Given the description of an element on the screen output the (x, y) to click on. 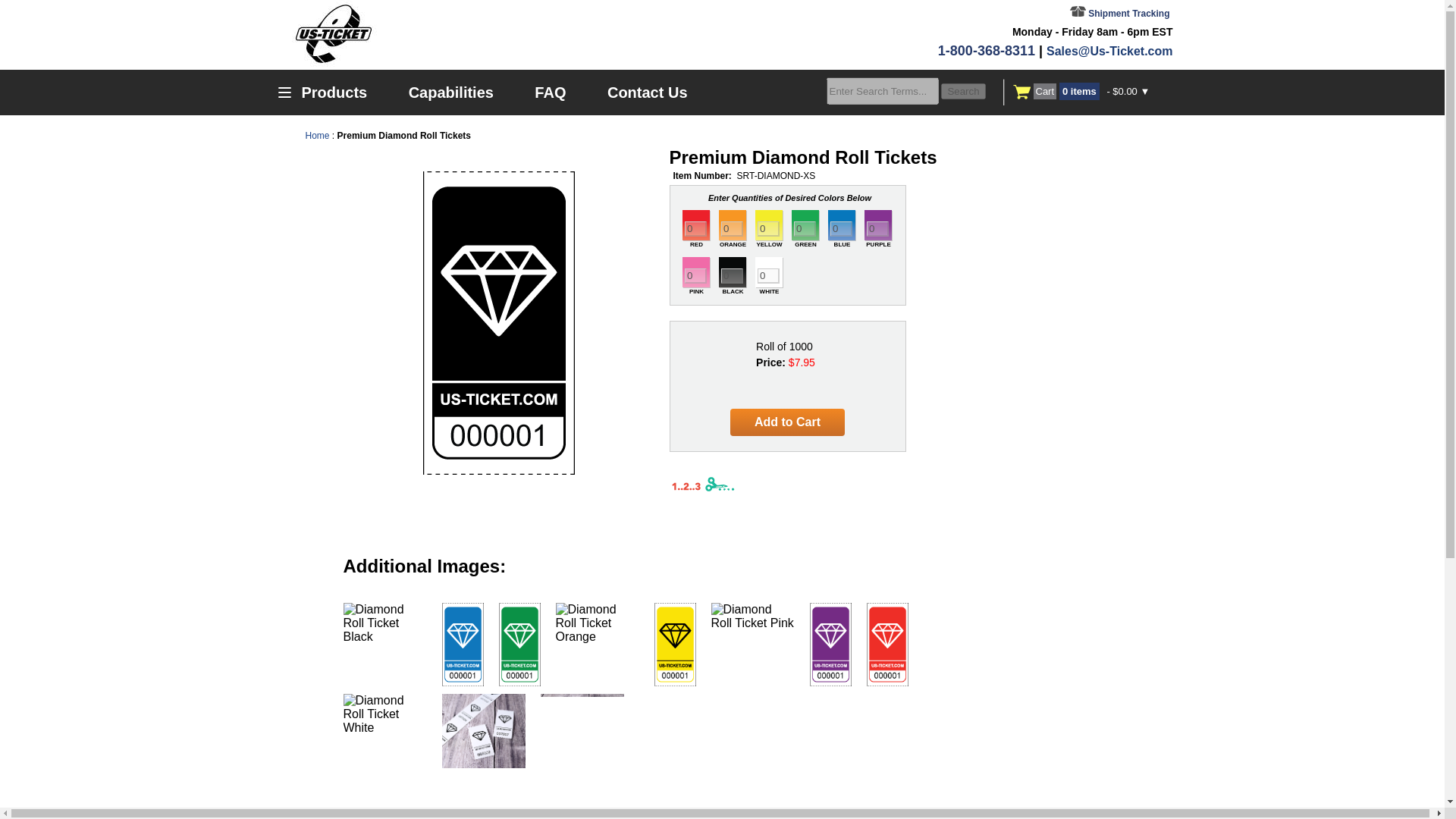
0 (877, 228)
Sequential Numbering (684, 483)
0 (731, 275)
Search (962, 91)
Perforated (718, 483)
0 (731, 228)
0 (767, 275)
 Shipment Tracking (1120, 13)
0 (695, 275)
0 (840, 228)
0 (695, 228)
0 (804, 228)
0 (767, 228)
Products (325, 92)
